Given the description of an element on the screen output the (x, y) to click on. 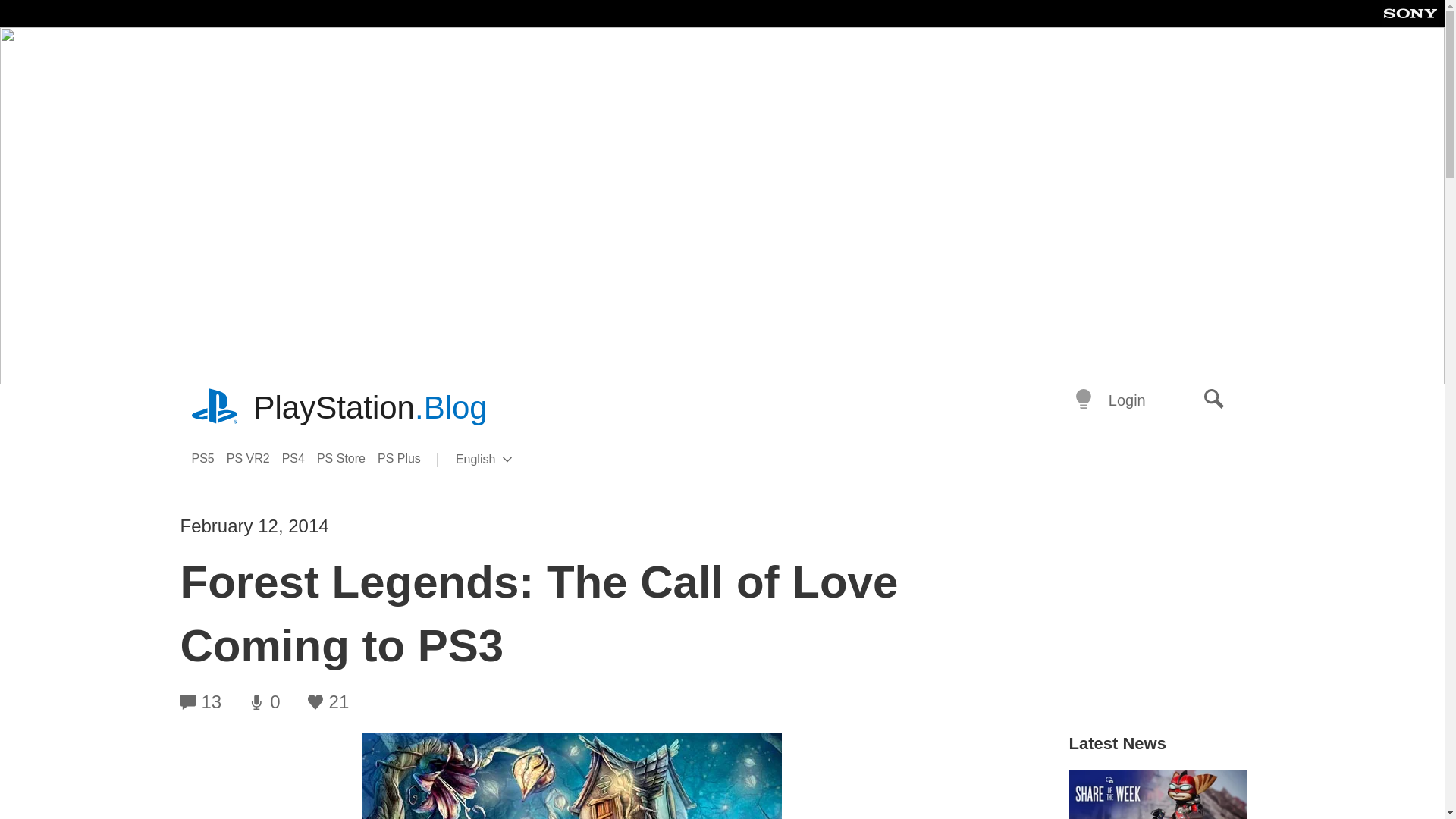
PS5 (207, 458)
PS VR2 (508, 459)
Login (254, 458)
Search (1126, 400)
Skip to content (1214, 400)
PS Plus (299, 458)
PS Store (404, 458)
PlayStation.Blog (347, 458)
